Given the description of an element on the screen output the (x, y) to click on. 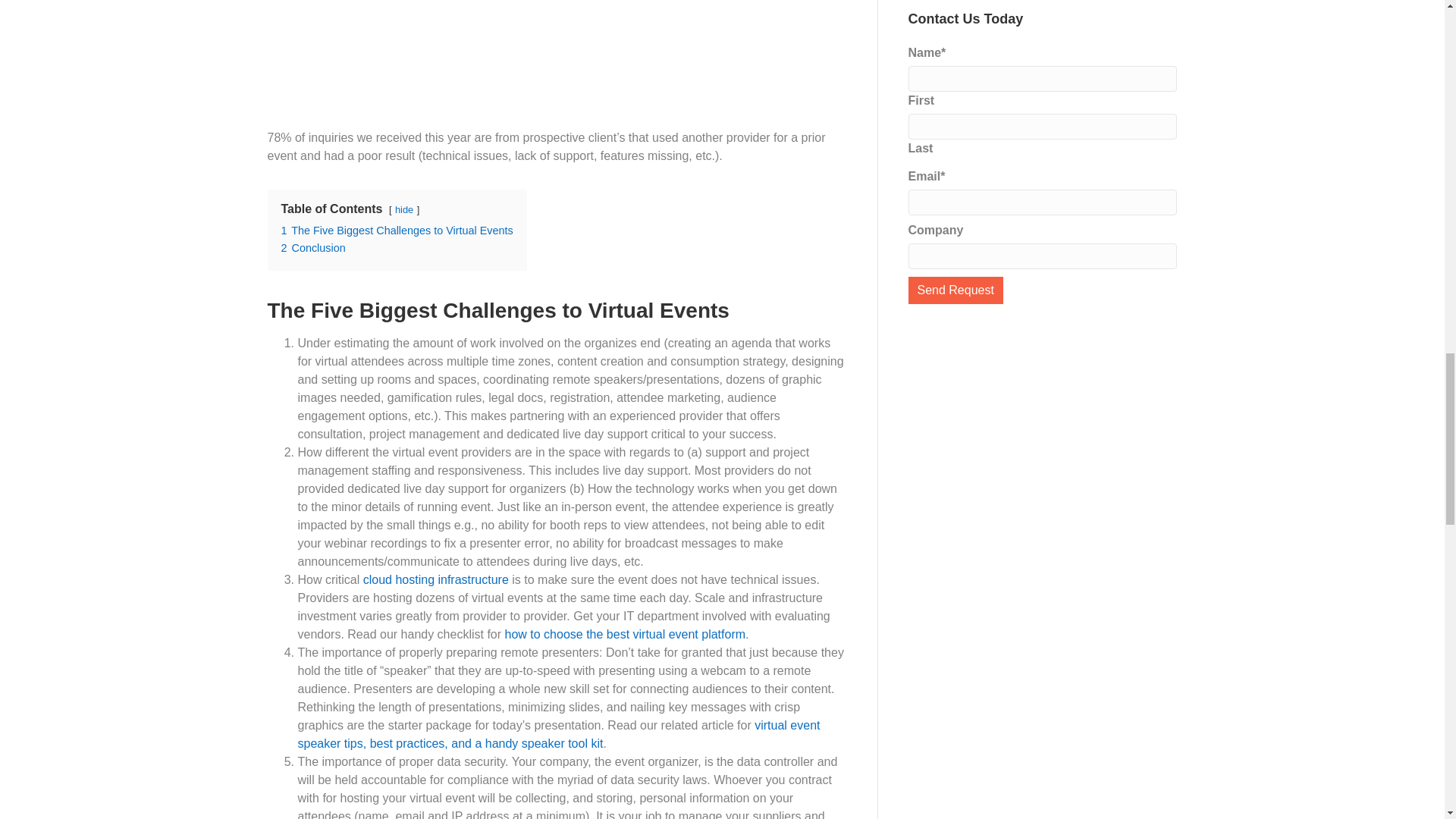
Send Request (955, 289)
